Given the description of an element on the screen output the (x, y) to click on. 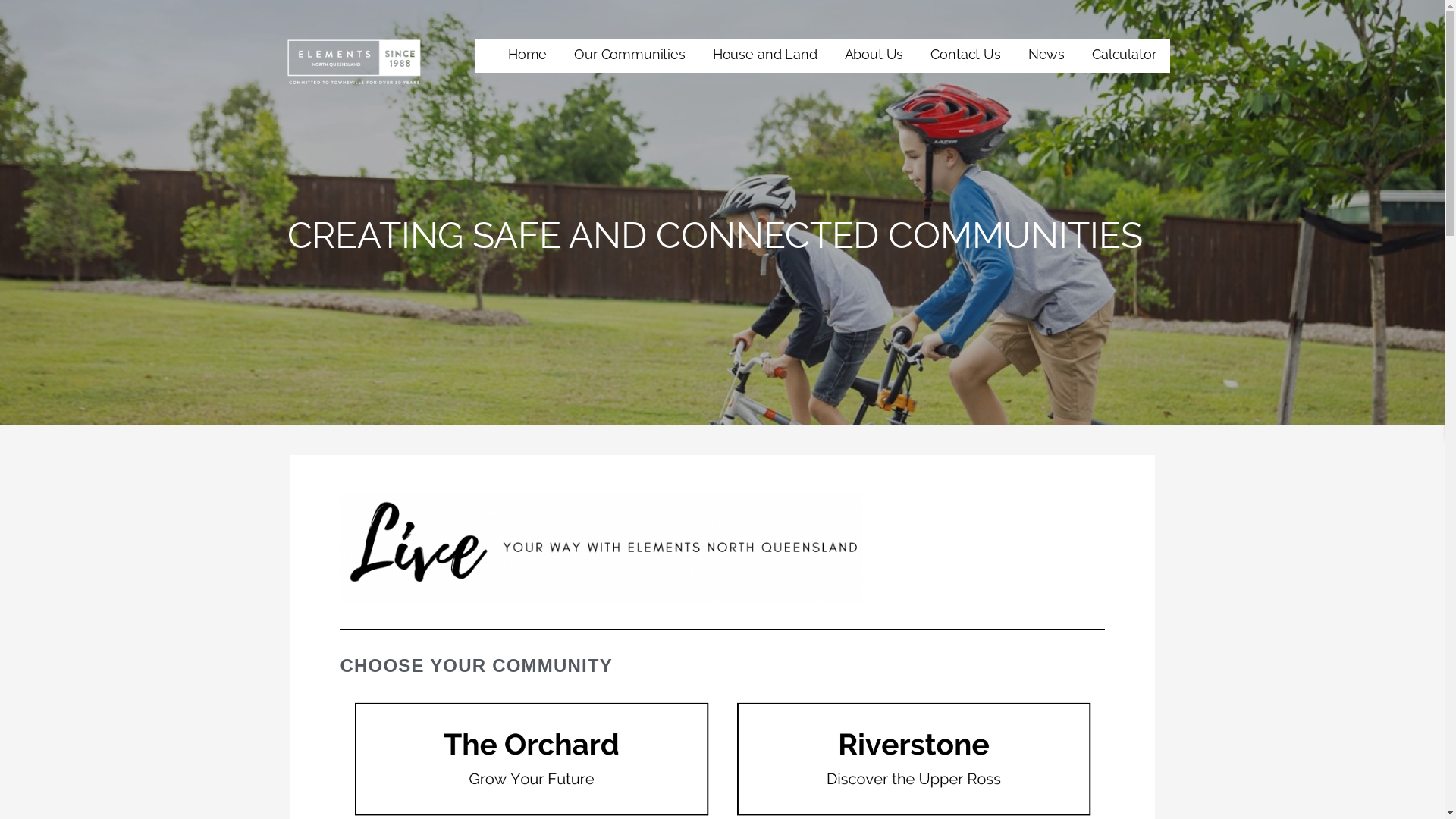
Elements North Queensland Element type: text (441, 96)
Contact Us Element type: text (965, 55)
About Us Element type: text (873, 55)
House and Land Element type: text (764, 55)
News Element type: text (1046, 55)
Calculator Element type: text (1123, 55)
Home Element type: text (527, 55)
Our Communities Element type: text (629, 55)
